Given the description of an element on the screen output the (x, y) to click on. 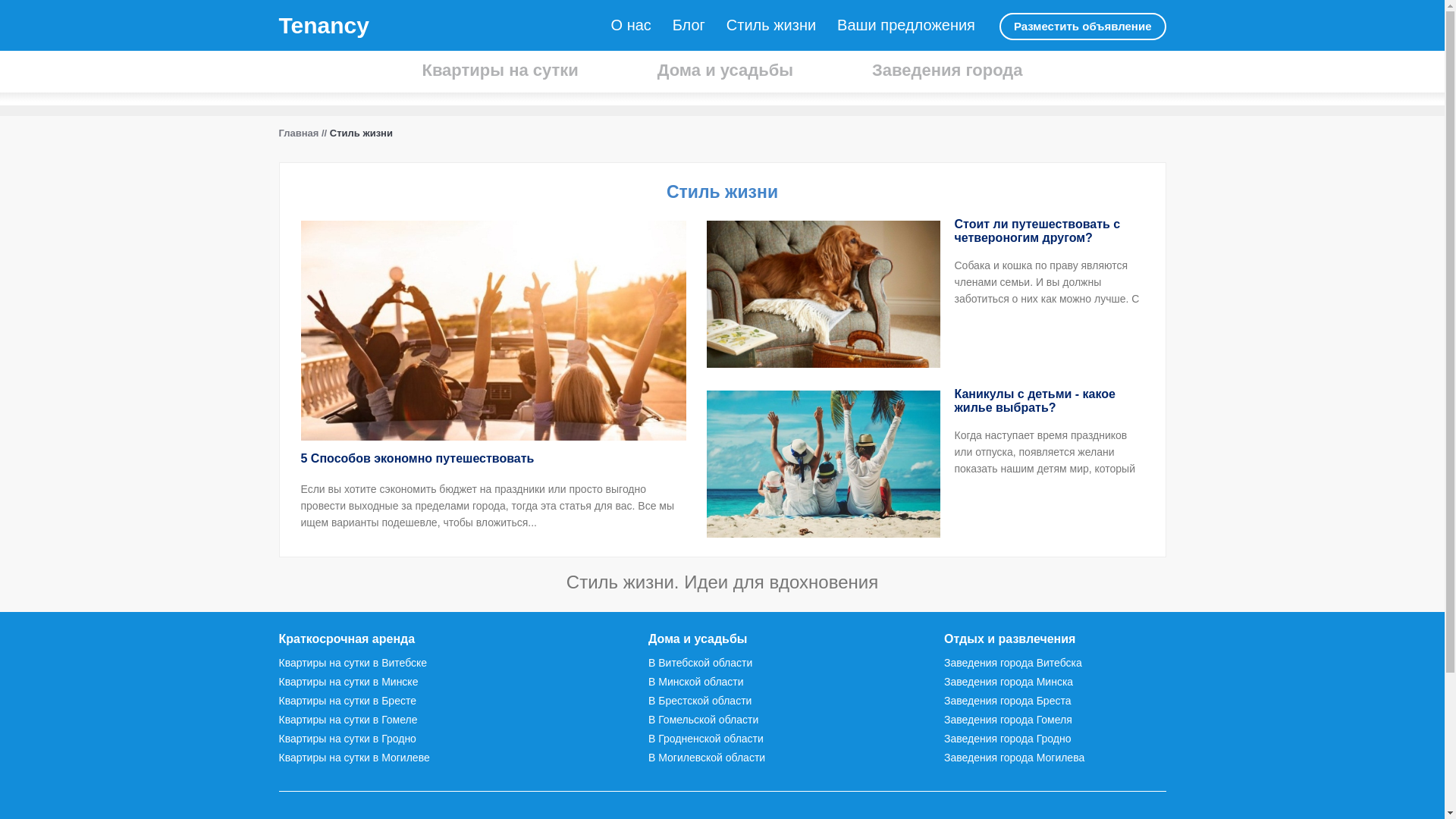
Tenancy Element type: text (324, 24)
